Given the description of an element on the screen output the (x, y) to click on. 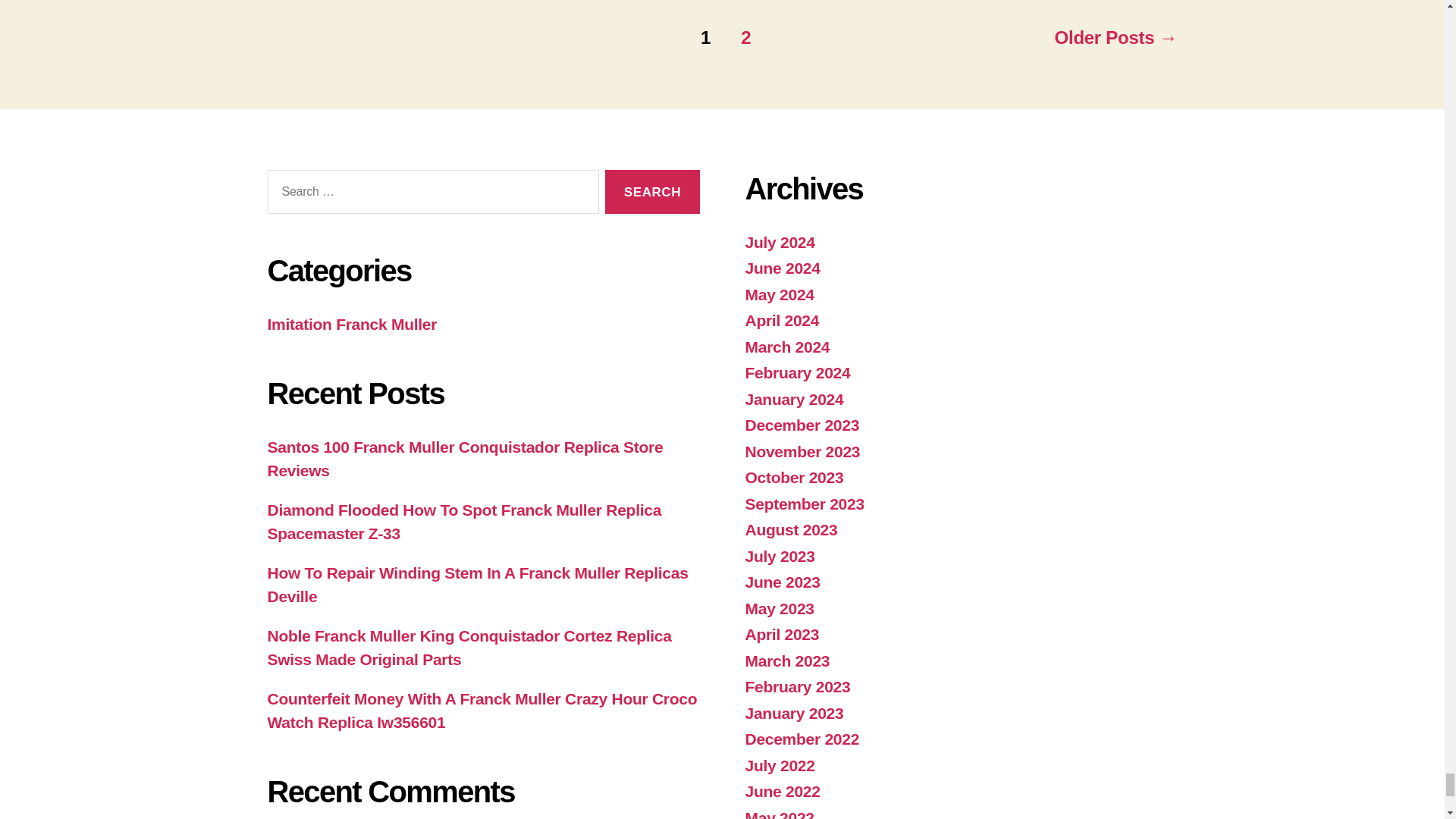
Search (651, 191)
Search (651, 191)
